Given the description of an element on the screen output the (x, y) to click on. 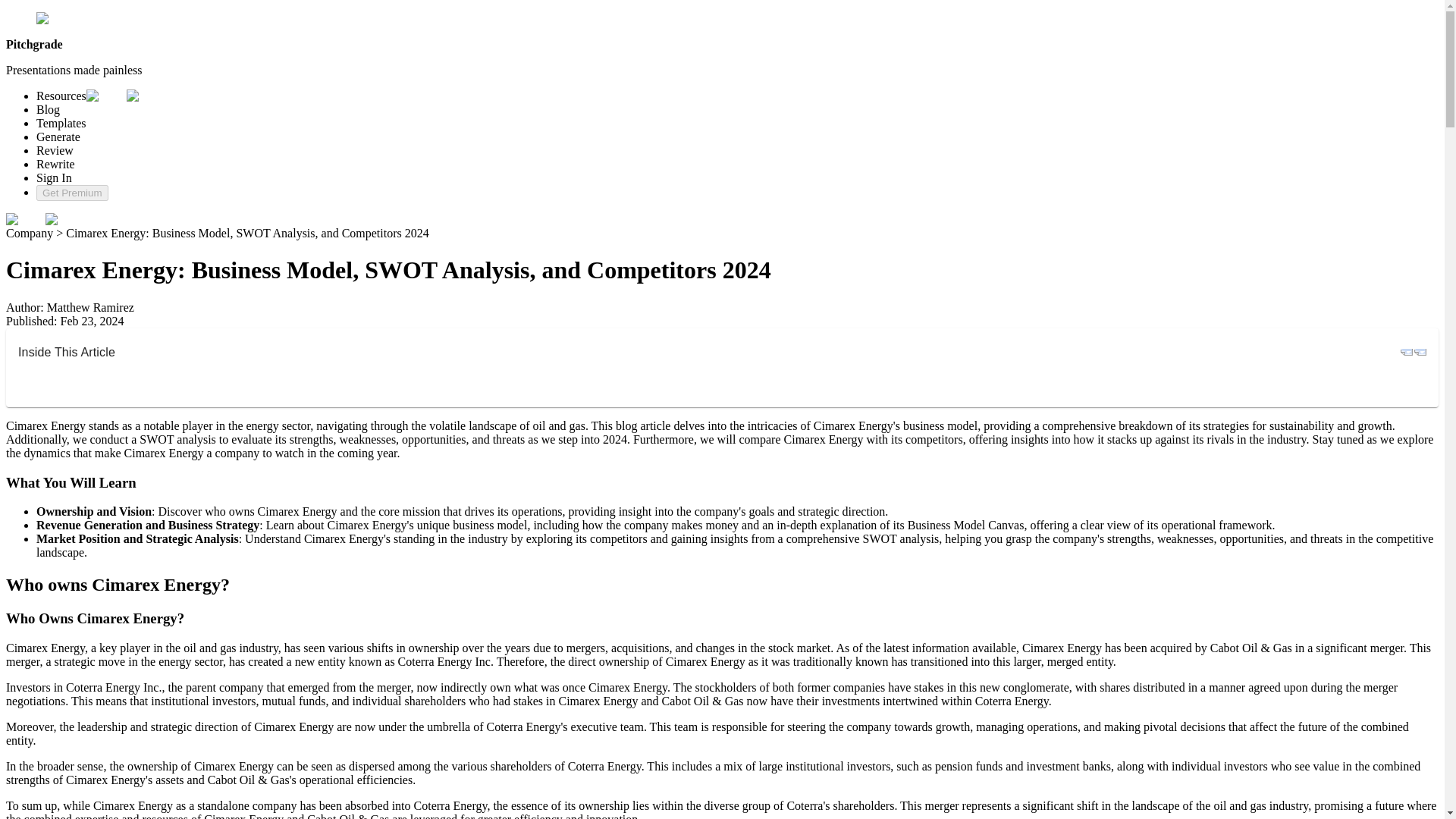
menu (64, 219)
Pitchgrade (68, 18)
Get Premium (71, 192)
Matthew Ramirez (89, 307)
menu (1405, 351)
menu (1419, 351)
menu (25, 219)
